Given the description of an element on the screen output the (x, y) to click on. 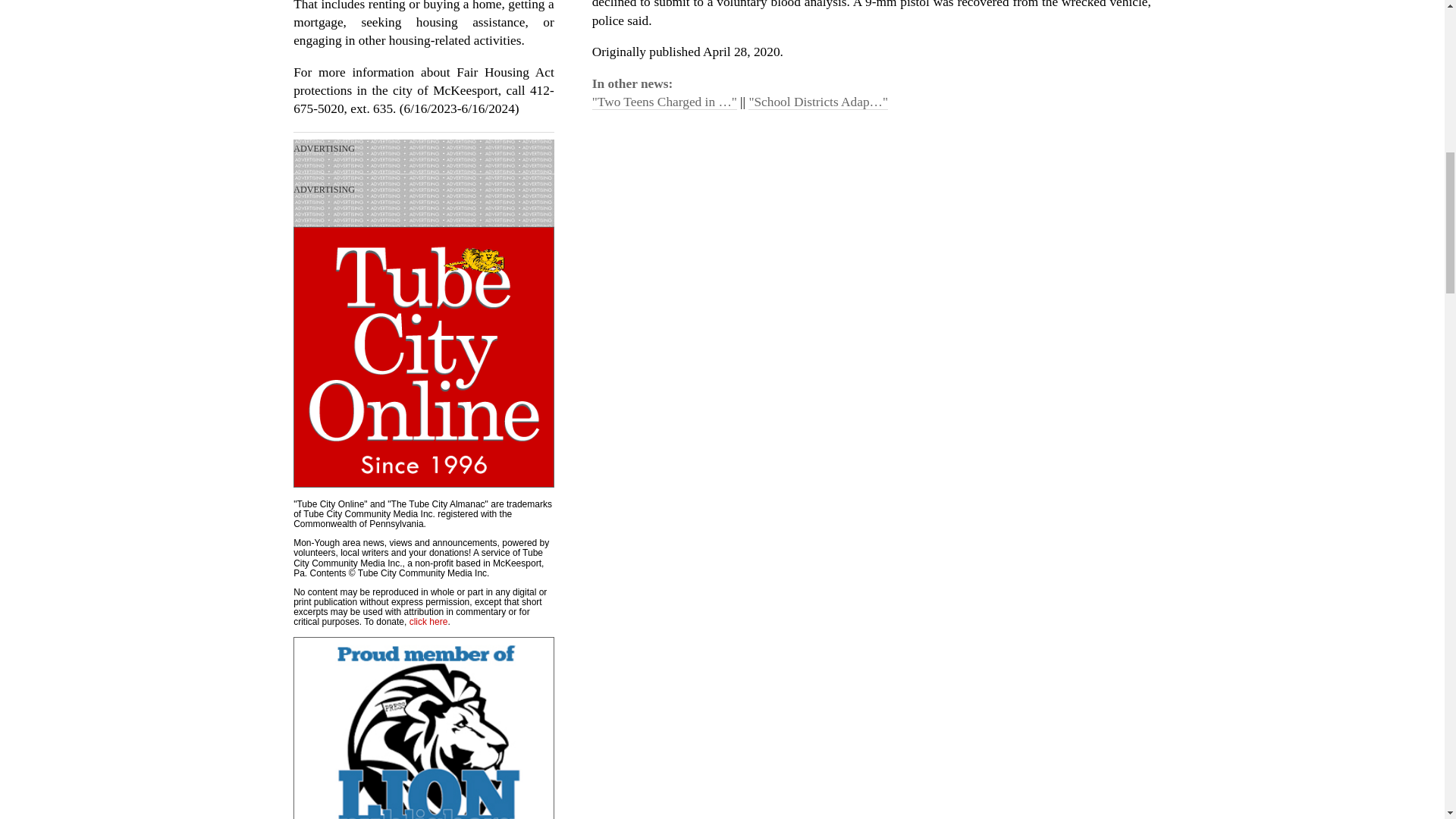
Member, Local Independent Online Publishers (424, 728)
click here (428, 621)
